Given the description of an element on the screen output the (x, y) to click on. 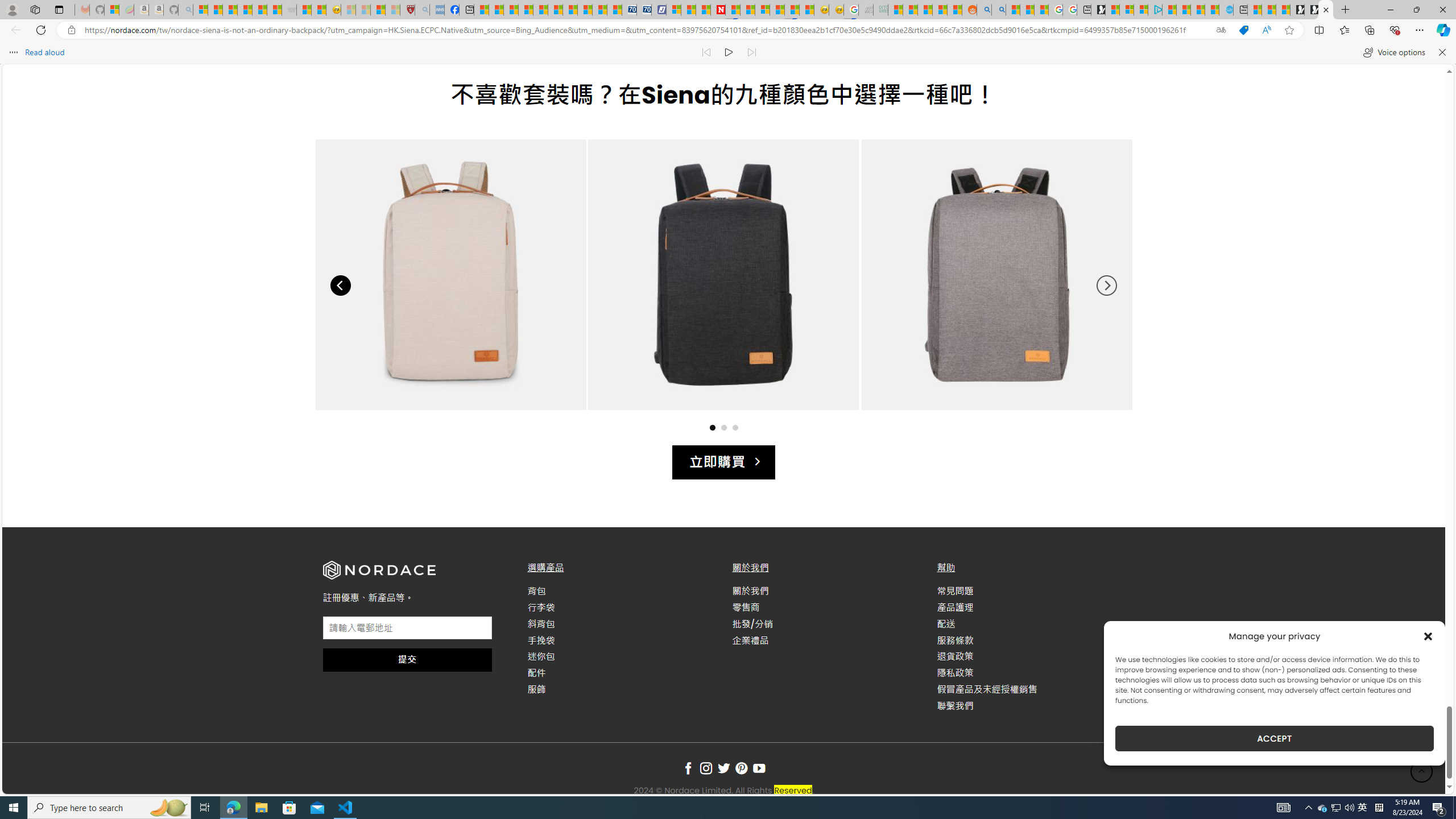
Microsoft Start Gaming (1097, 9)
Copilot (Ctrl+Shift+.) (1442, 29)
14 Common Myths Debunked By Scientific Facts (747, 9)
Stocks - MSN (274, 9)
The Weather Channel - MSN (229, 9)
Personal Profile (12, 9)
Address and search bar (647, 29)
Nordace - Nordace Siena Is Not An Ordinary Backpack (1325, 9)
Continue to read aloud (Ctrl+Shift+U) (729, 52)
